Given the description of an element on the screen output the (x, y) to click on. 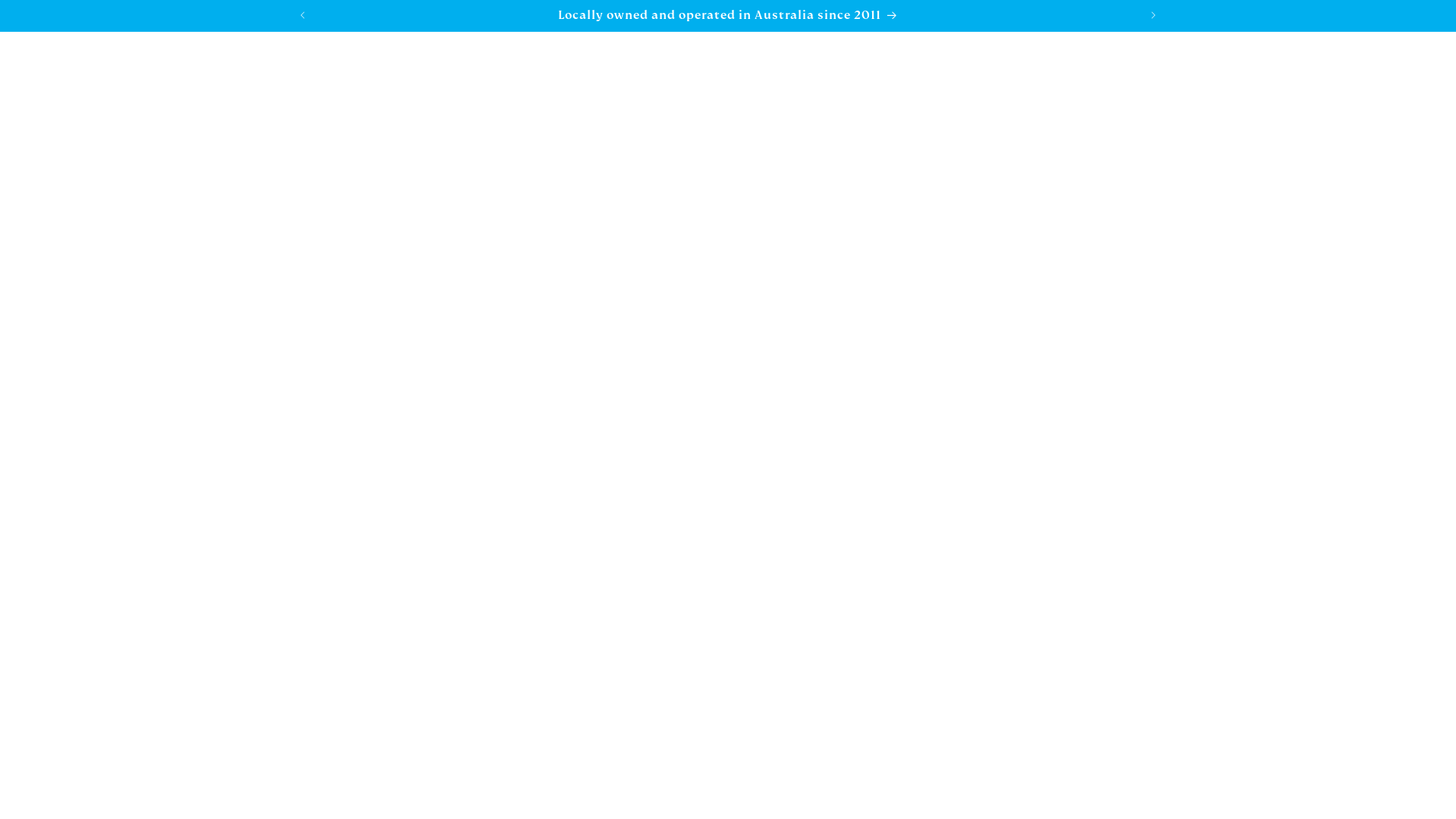
Locally owned and operated in Australia since 2011 Element type: text (727, 15)
